Given the description of an element on the screen output the (x, y) to click on. 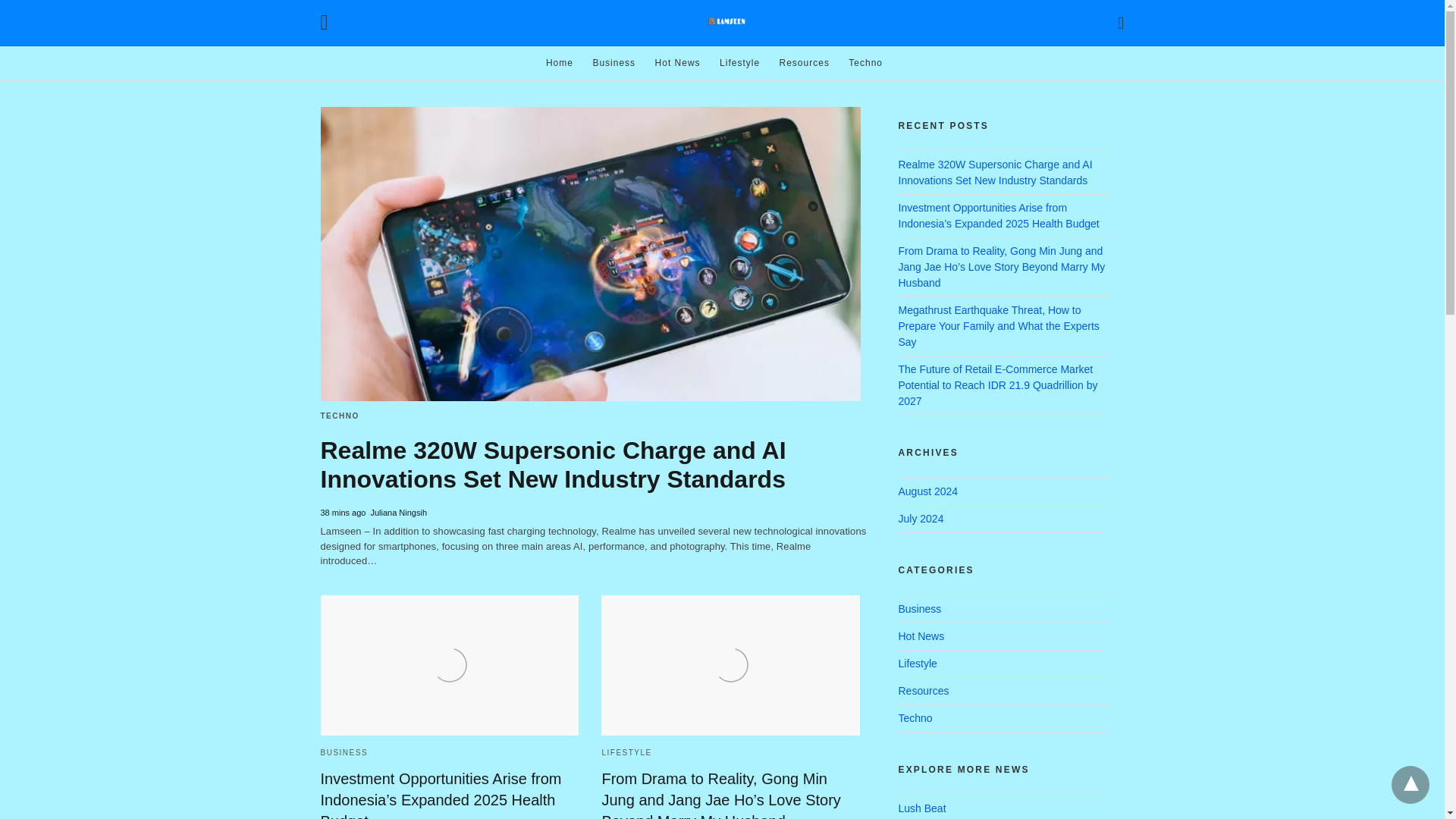
Lifestyle (739, 62)
BUSINESS (344, 752)
TECHNO (339, 415)
Techno (865, 62)
back to top (1410, 784)
Hot News (677, 62)
Business (613, 62)
Resources (803, 62)
